Given the description of an element on the screen output the (x, y) to click on. 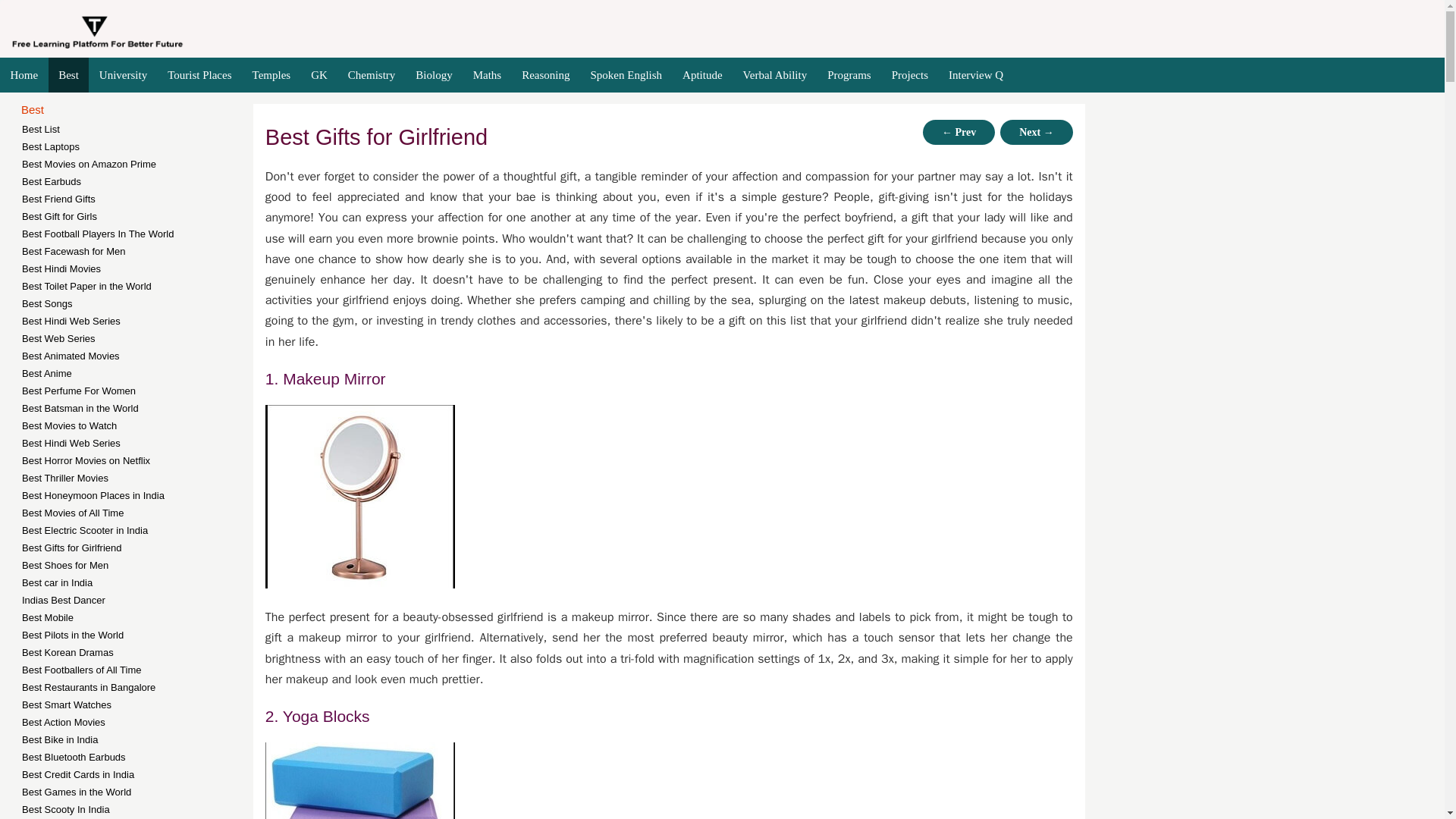
Best Gift for Girls (138, 216)
Best Movies on Amazon Prime (138, 163)
Best Hindi Web Series (138, 320)
Verbal Ability (774, 75)
Best Earbuds (138, 181)
Best Friend Gifts (138, 198)
Best Toilet Paper in the World (138, 286)
Best Hindi Movies (138, 268)
Best Anime (138, 373)
Best Football Players In The World (138, 233)
